Given the description of an element on the screen output the (x, y) to click on. 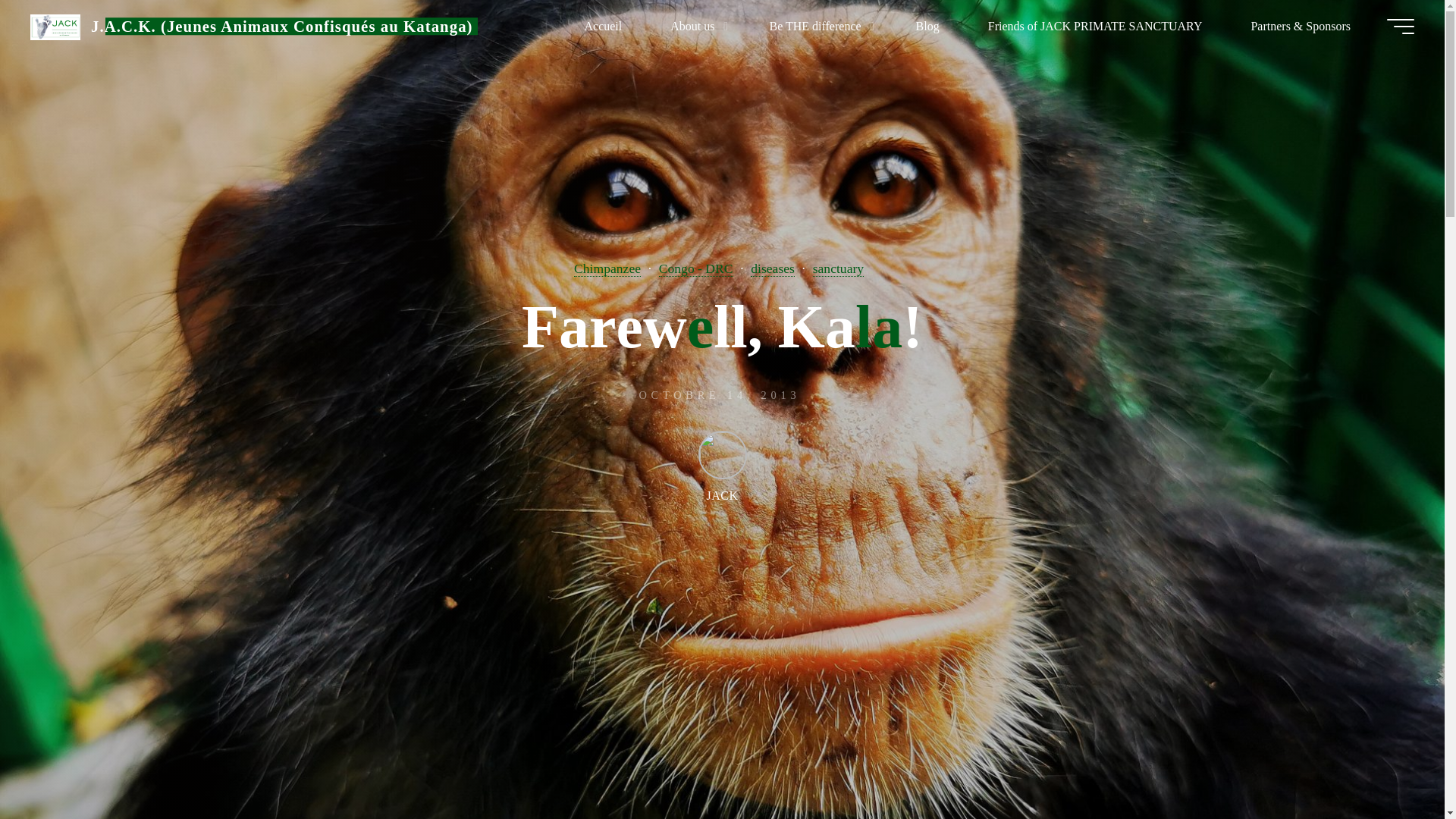
Blog (927, 26)
sanctuary (837, 268)
Accueil (602, 26)
One of the last bastions before extinction (281, 26)
Congo - DRC (696, 268)
Be THE difference (817, 26)
About us (695, 26)
Lire la suite (721, 724)
Friends of JACK PRIMATE SANCTUARY (1095, 26)
Chimpanzee (606, 268)
